Given the description of an element on the screen output the (x, y) to click on. 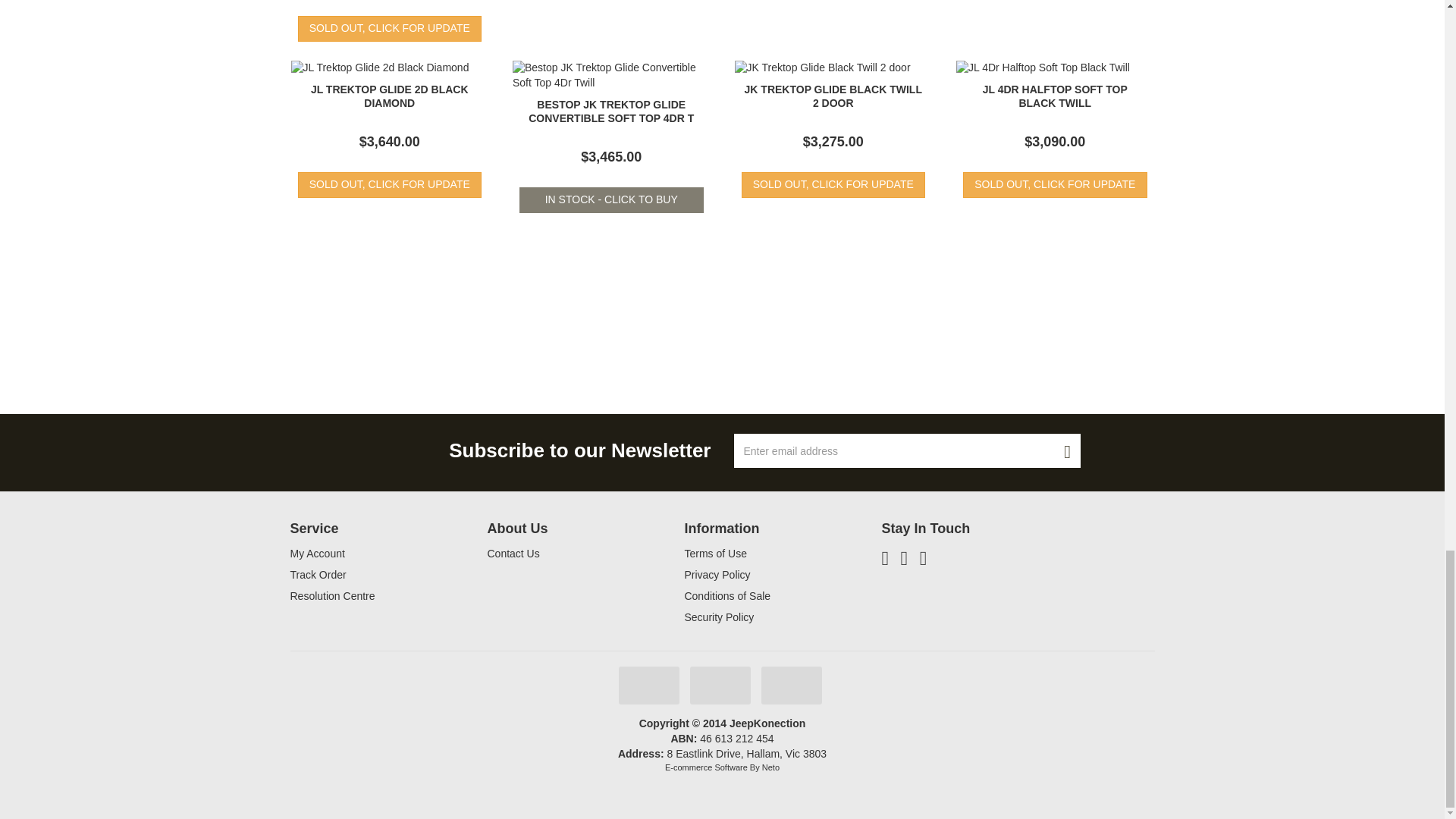
JL 4Dr Halftop Soft Top Black Twill (1054, 95)
Bestop JK Trektop Glide Convertible Soft Top 4Dr Twill (611, 111)
E-commerce Shopping Cart (706, 767)
JK Trektop Glide Black Twill 2 door (832, 95)
Add to Cart (611, 199)
JL Trektop Glide 2d Black Diamond (389, 95)
